Given the description of an element on the screen output the (x, y) to click on. 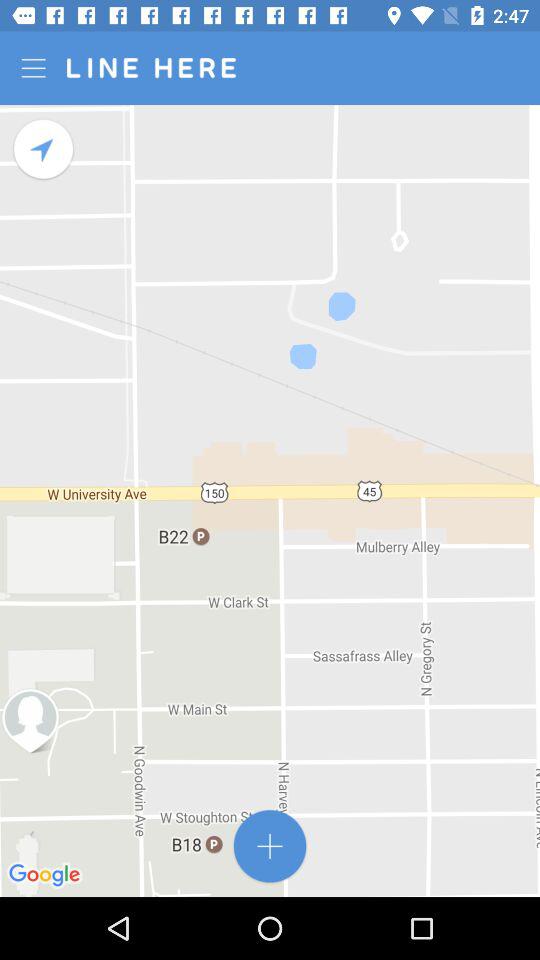
view menu (35, 67)
